Given the description of an element on the screen output the (x, y) to click on. 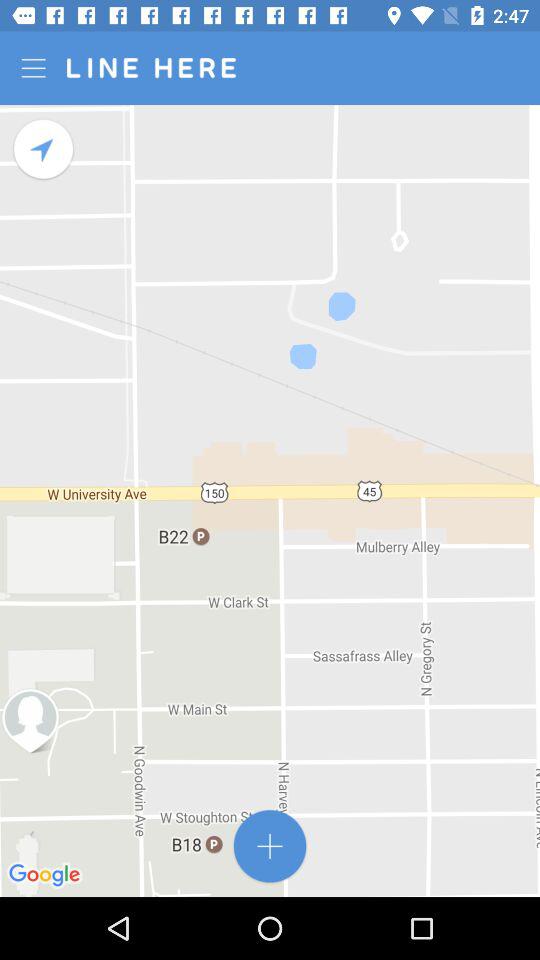
view menu (35, 67)
